Given the description of an element on the screen output the (x, y) to click on. 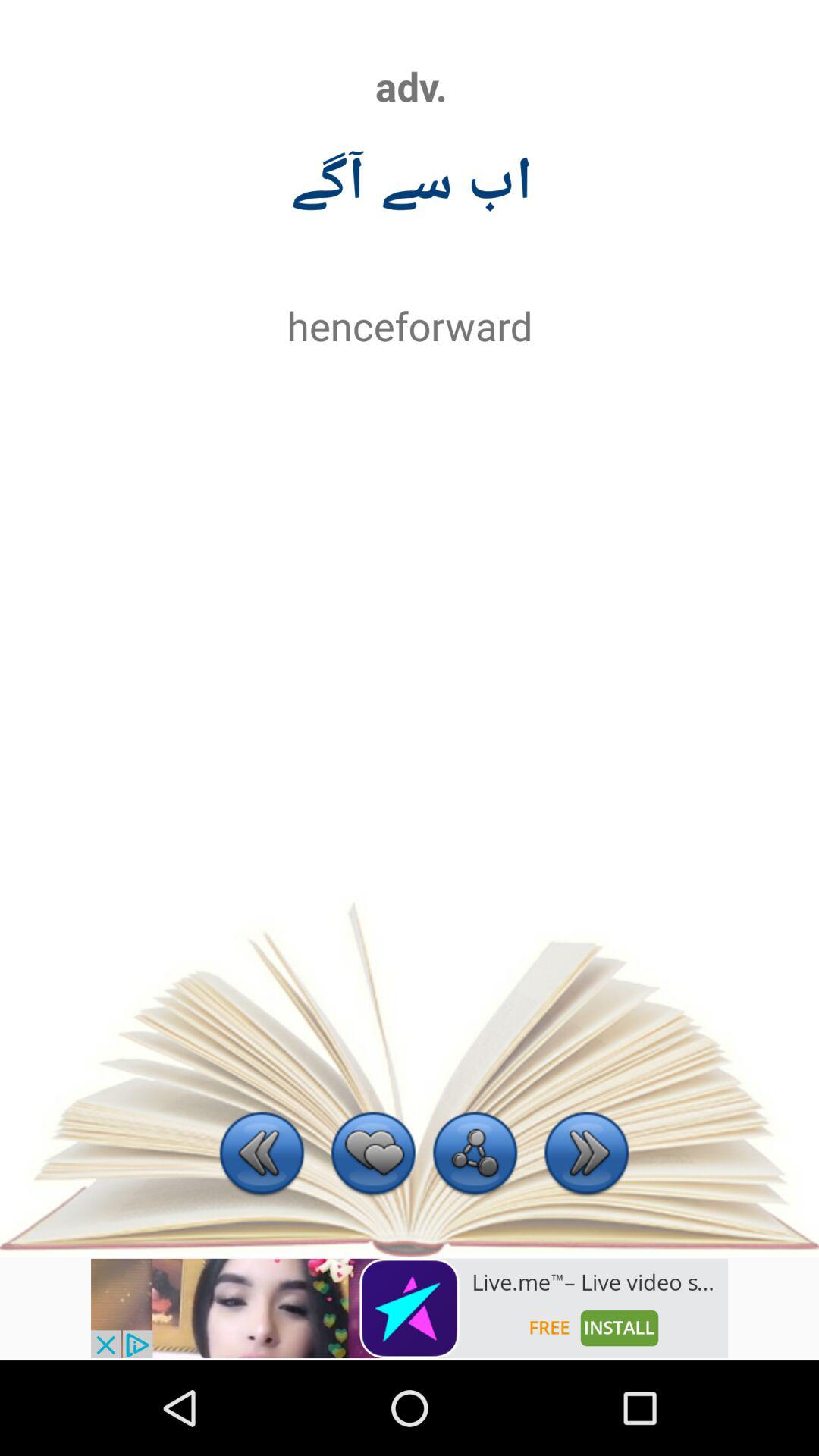
go back (261, 1155)
